Given the description of an element on the screen output the (x, y) to click on. 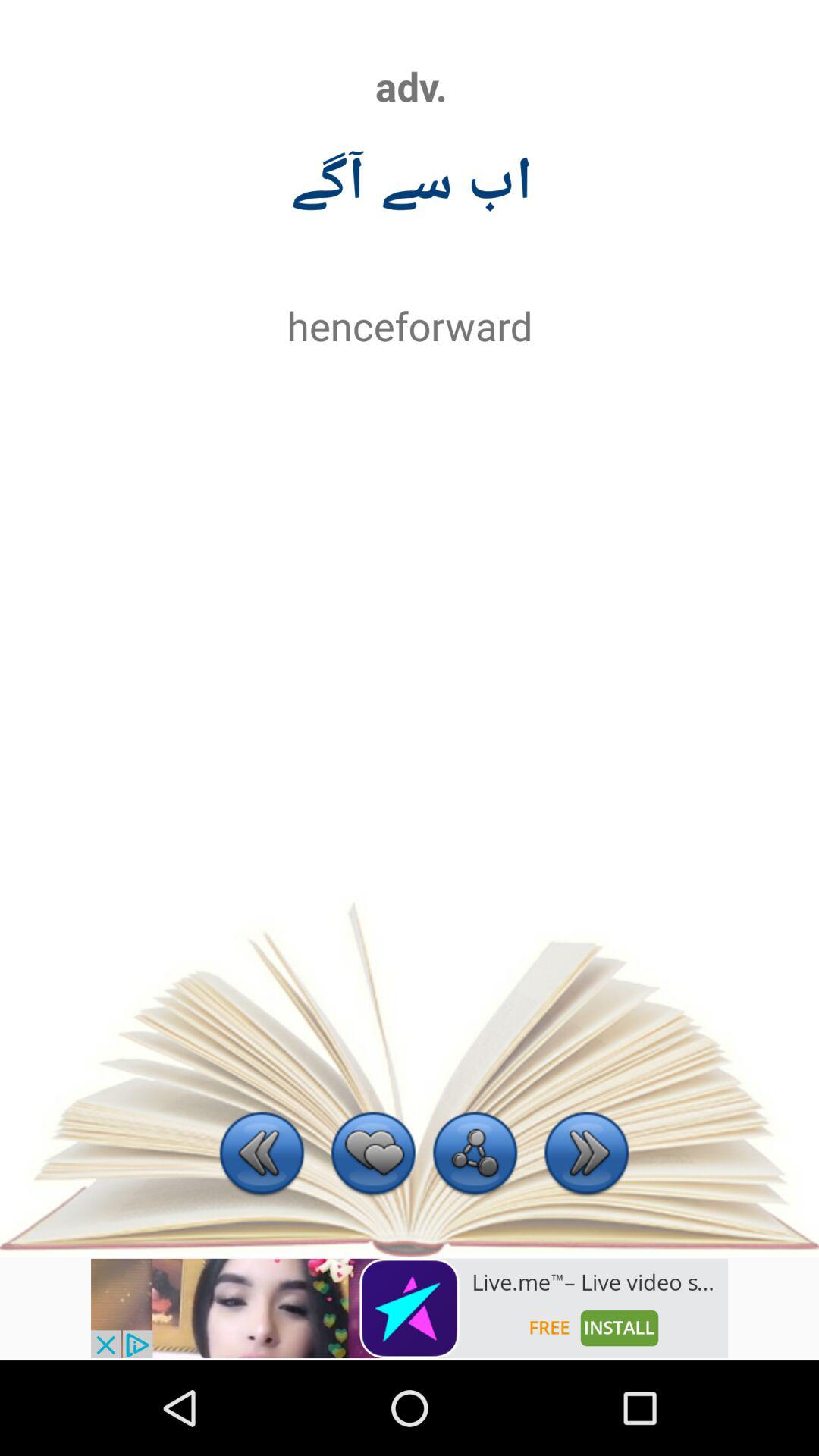
go back (261, 1155)
